Given the description of an element on the screen output the (x, y) to click on. 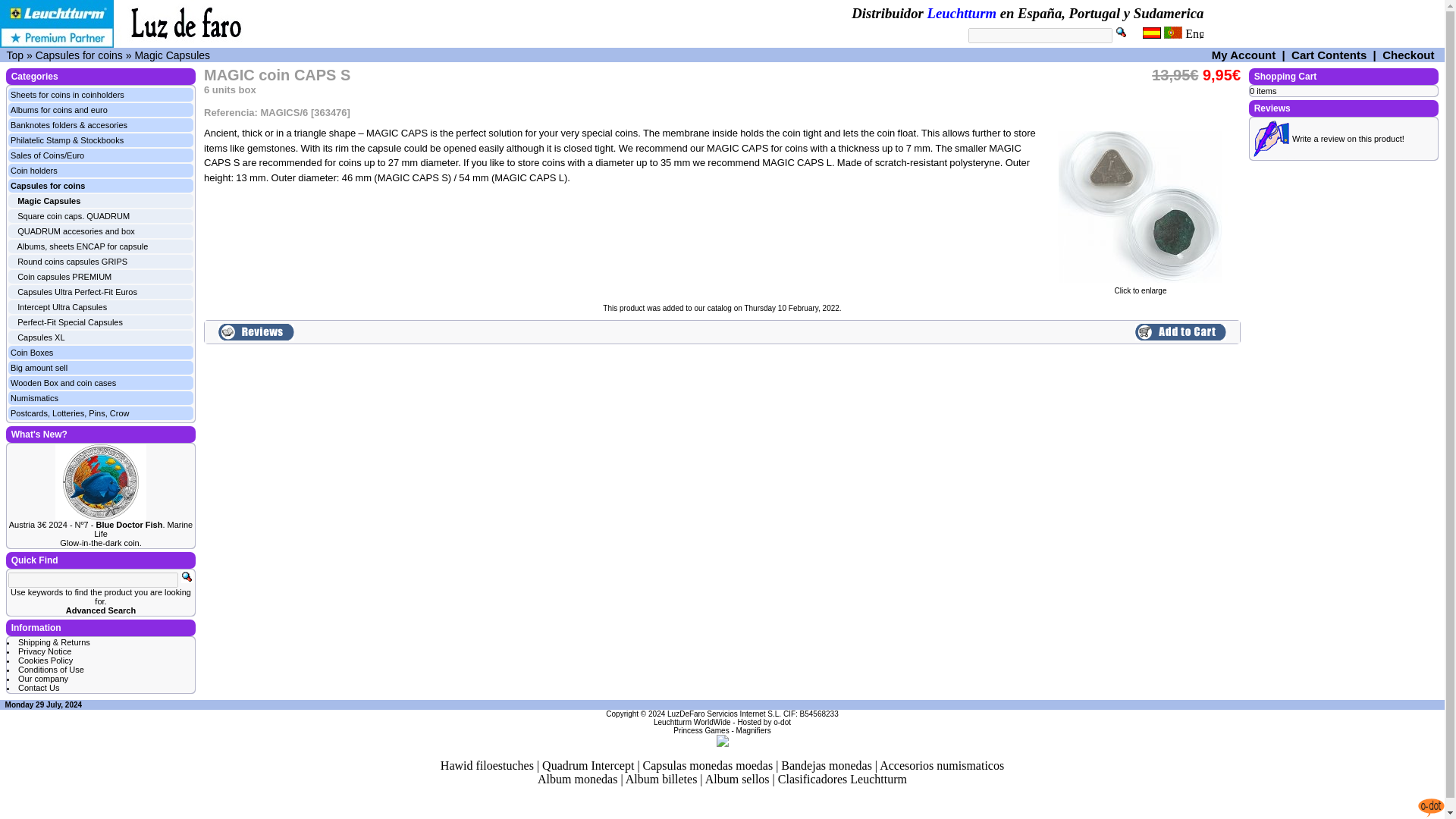
 MAGIC coin CAPS S  (1139, 206)
Coin Boxes (31, 352)
Capsules XL (40, 337)
Advanced Search (100, 610)
 Write Review  (1269, 138)
Privacy Notice (44, 651)
Capsules Ultra Perfect-Fit Euros (76, 291)
Magic Capsules (171, 54)
Sheets for coins in coinholders (66, 94)
 Add to Cart  (1180, 331)
Albums, sheets ENCAP for capsule (82, 245)
Round coins capsules GRIPS (76, 261)
Capsules for coins (47, 185)
Conditions of Use (50, 669)
My Account (1243, 54)
